Given the description of an element on the screen output the (x, y) to click on. 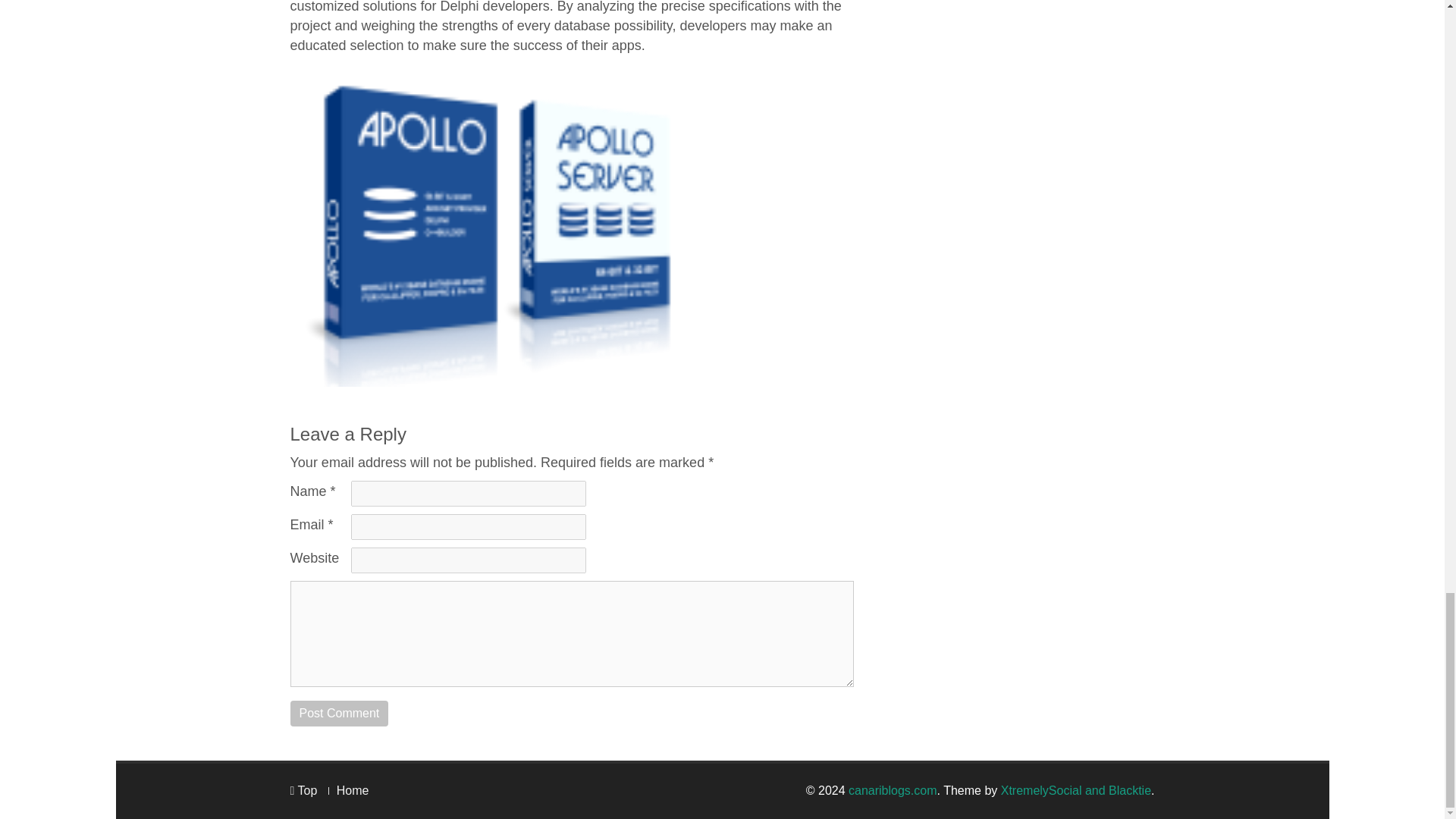
Post Comment (338, 713)
Top (303, 789)
Home (352, 789)
Home (352, 789)
Post Comment (338, 713)
Top (303, 789)
XtremelySocial and Blacktie (1076, 789)
Back to top of page (303, 789)
canariblogs.com (892, 789)
